Given the description of an element on the screen output the (x, y) to click on. 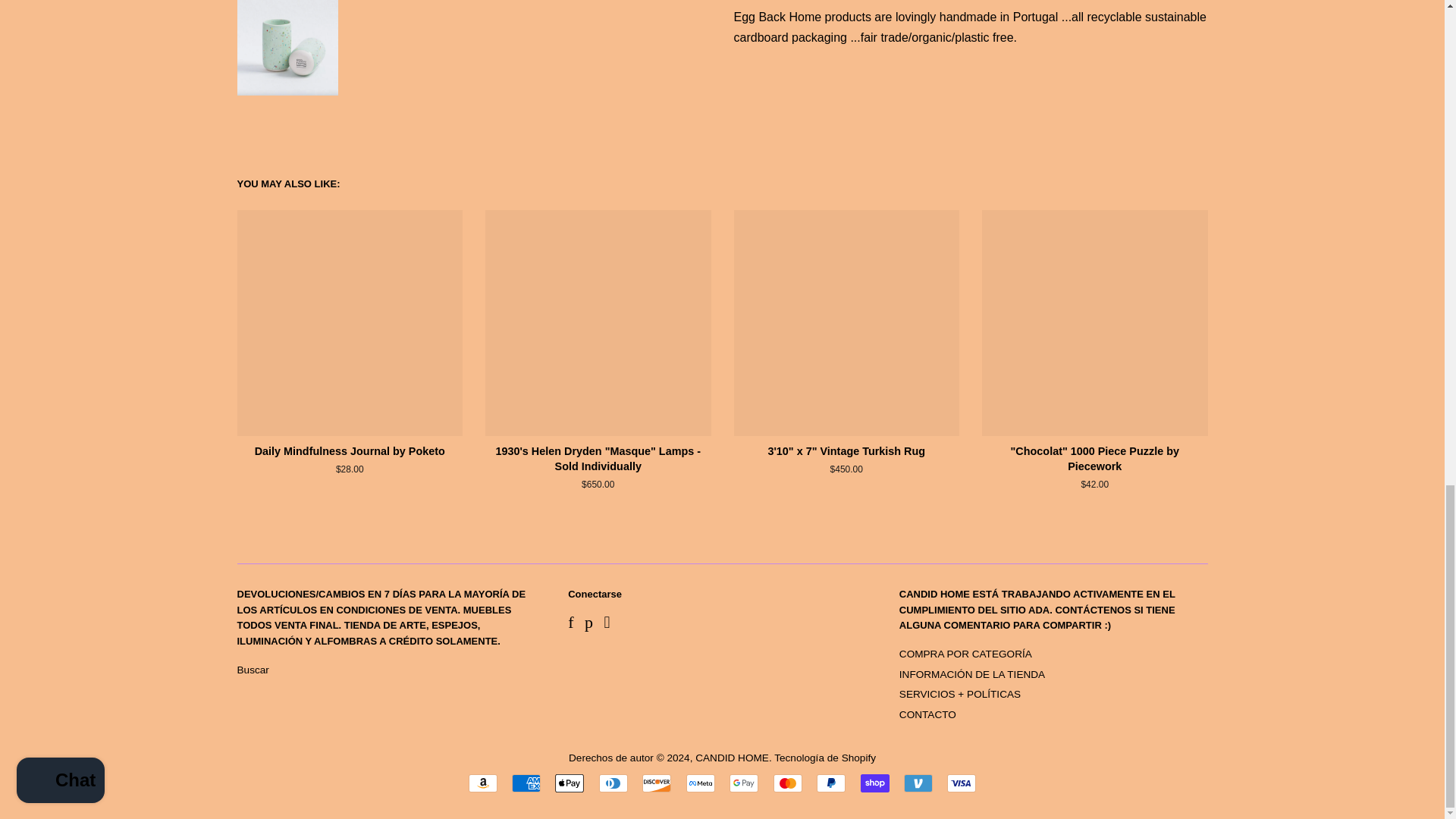
Shop Pay (874, 782)
Amazon (482, 782)
Diners Club (612, 782)
PayPal (830, 782)
Google Pay (743, 782)
Visa (961, 782)
Venmo (918, 782)
Discover (656, 782)
American Express (526, 782)
Mastercard (787, 782)
